Given the description of an element on the screen output the (x, y) to click on. 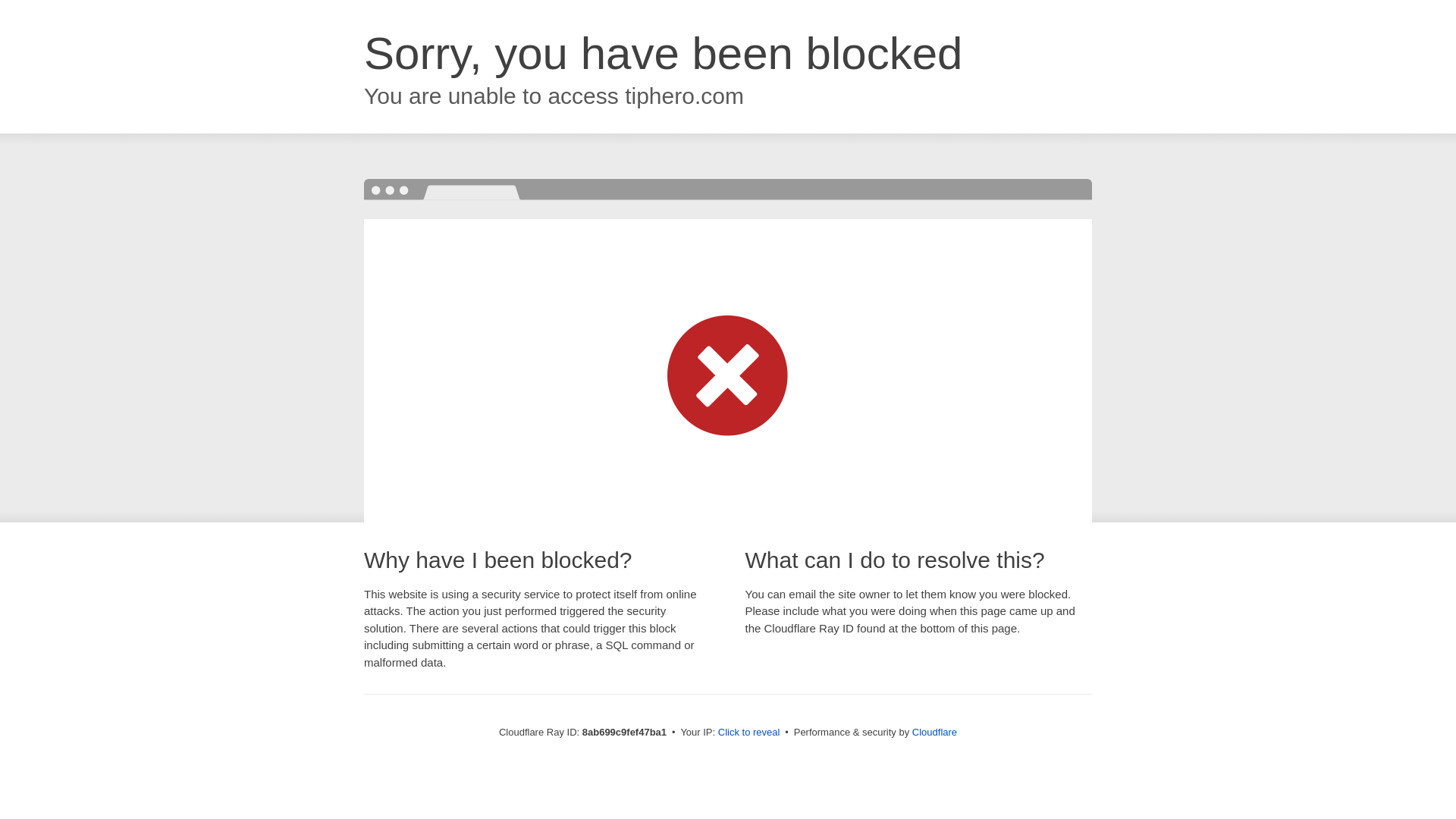
Click to reveal (748, 732)
Cloudflare (934, 731)
